Given the description of an element on the screen output the (x, y) to click on. 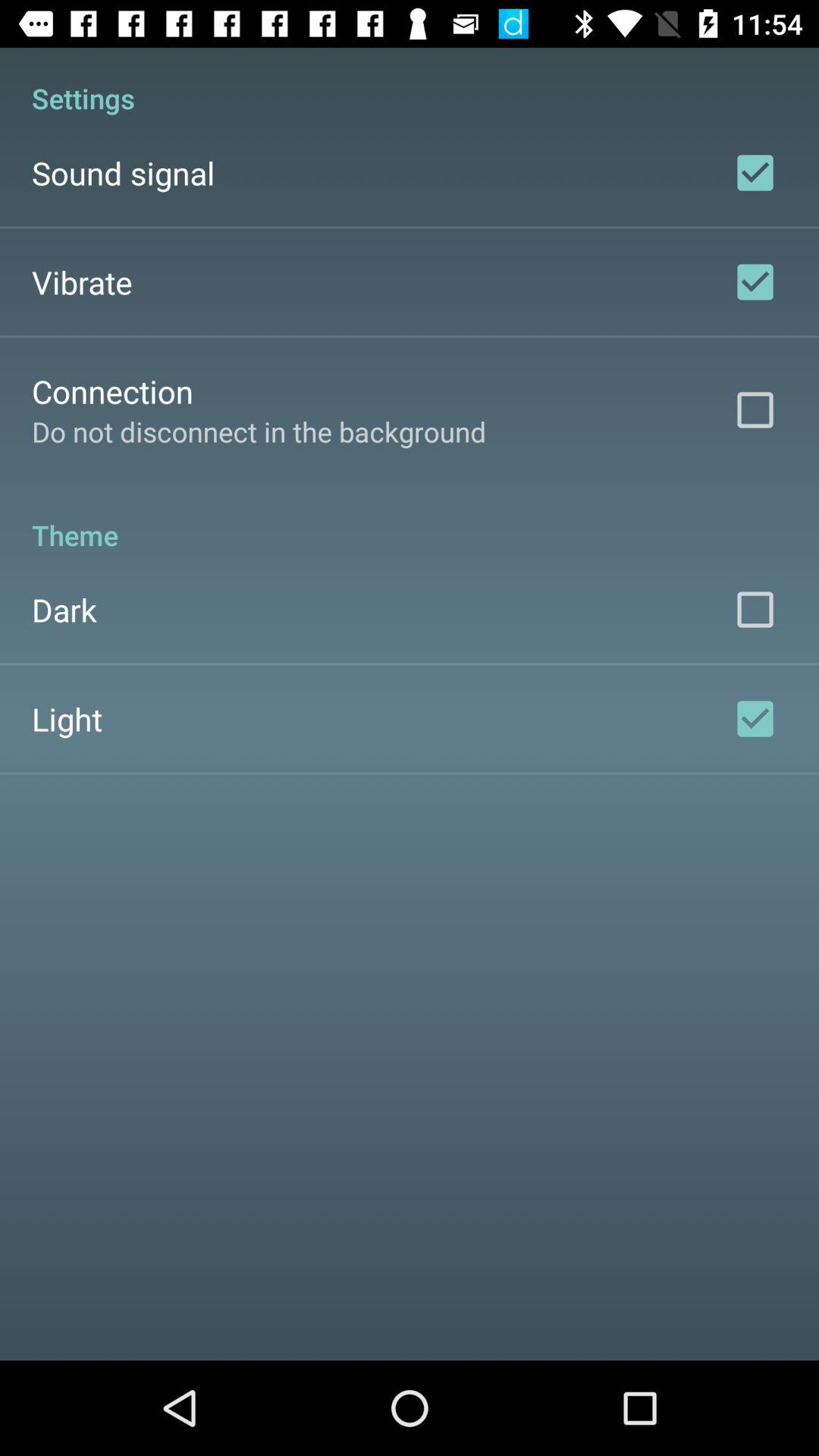
tap the icon above theme item (258, 431)
